Given the description of an element on the screen output the (x, y) to click on. 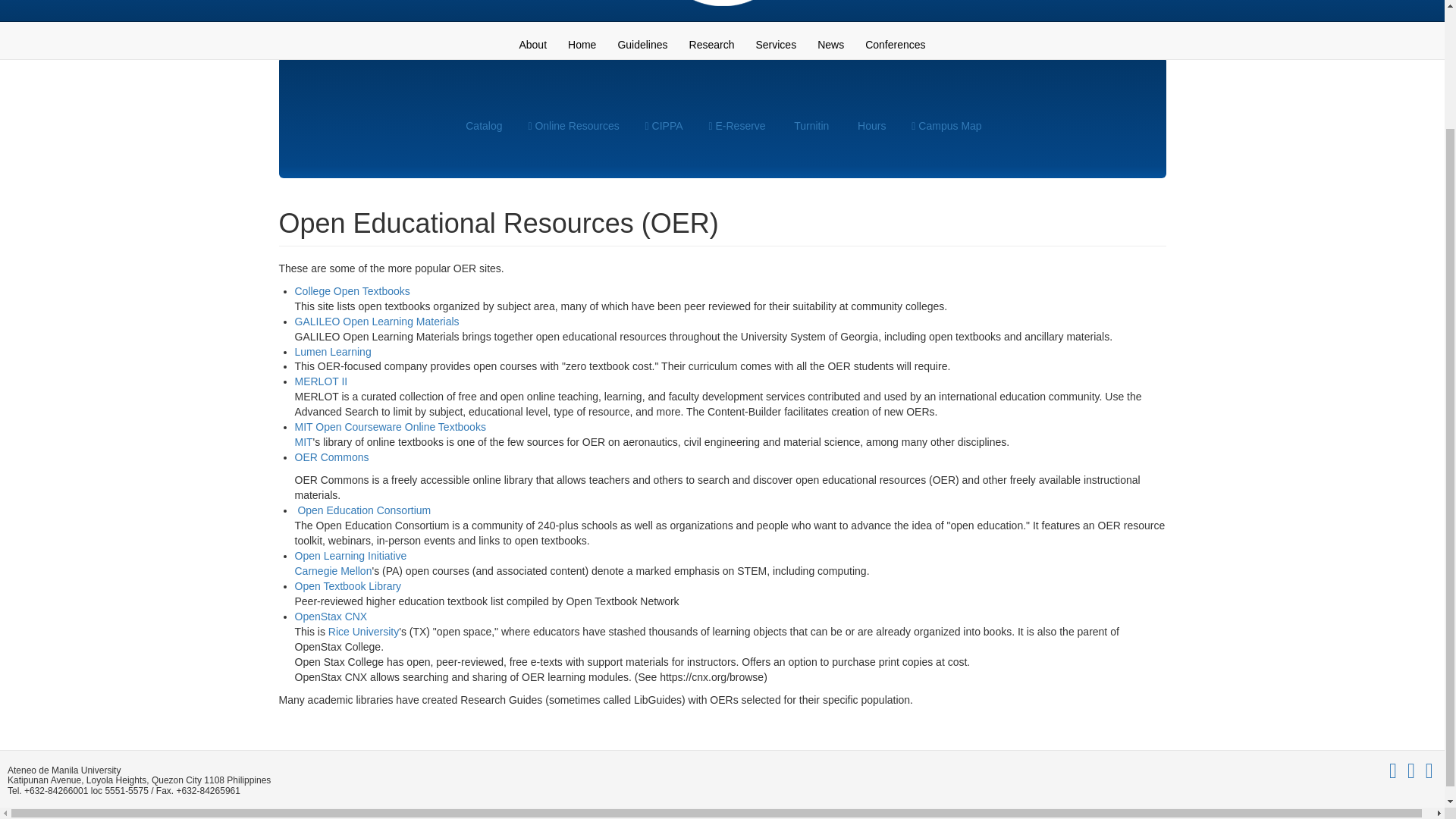
Home (582, 44)
Guidelines (642, 44)
Research (711, 44)
About (532, 44)
